Given the description of an element on the screen output the (x, y) to click on. 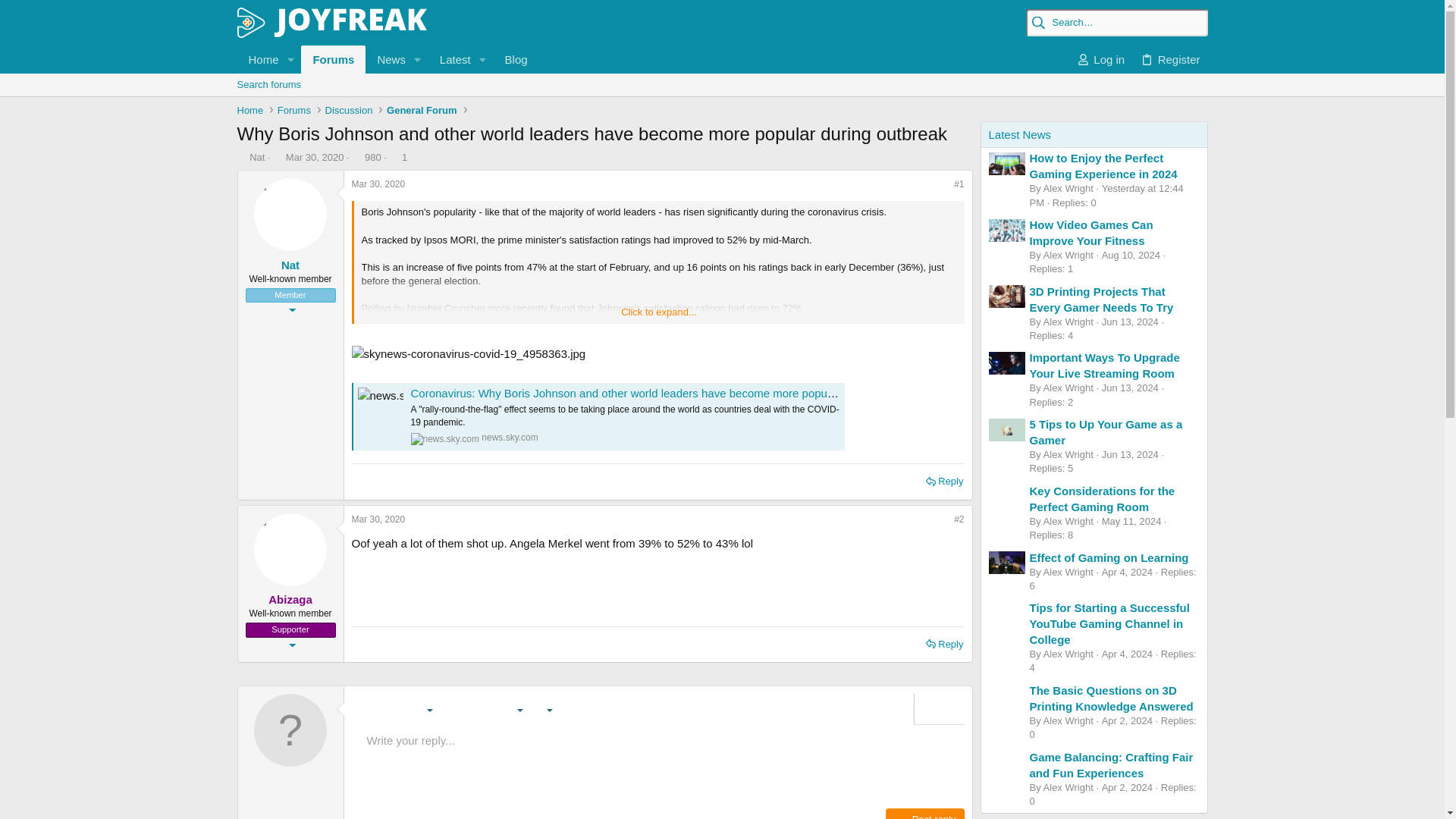
Font size (420, 710)
Views (356, 156)
Register (1169, 59)
Search forums (721, 101)
Replies (393, 156)
Latest (449, 59)
Mar 30, 2020 at 12:10 PM (314, 156)
Forums (333, 59)
Reply, quoting this message (944, 481)
